Given the description of an element on the screen output the (x, y) to click on. 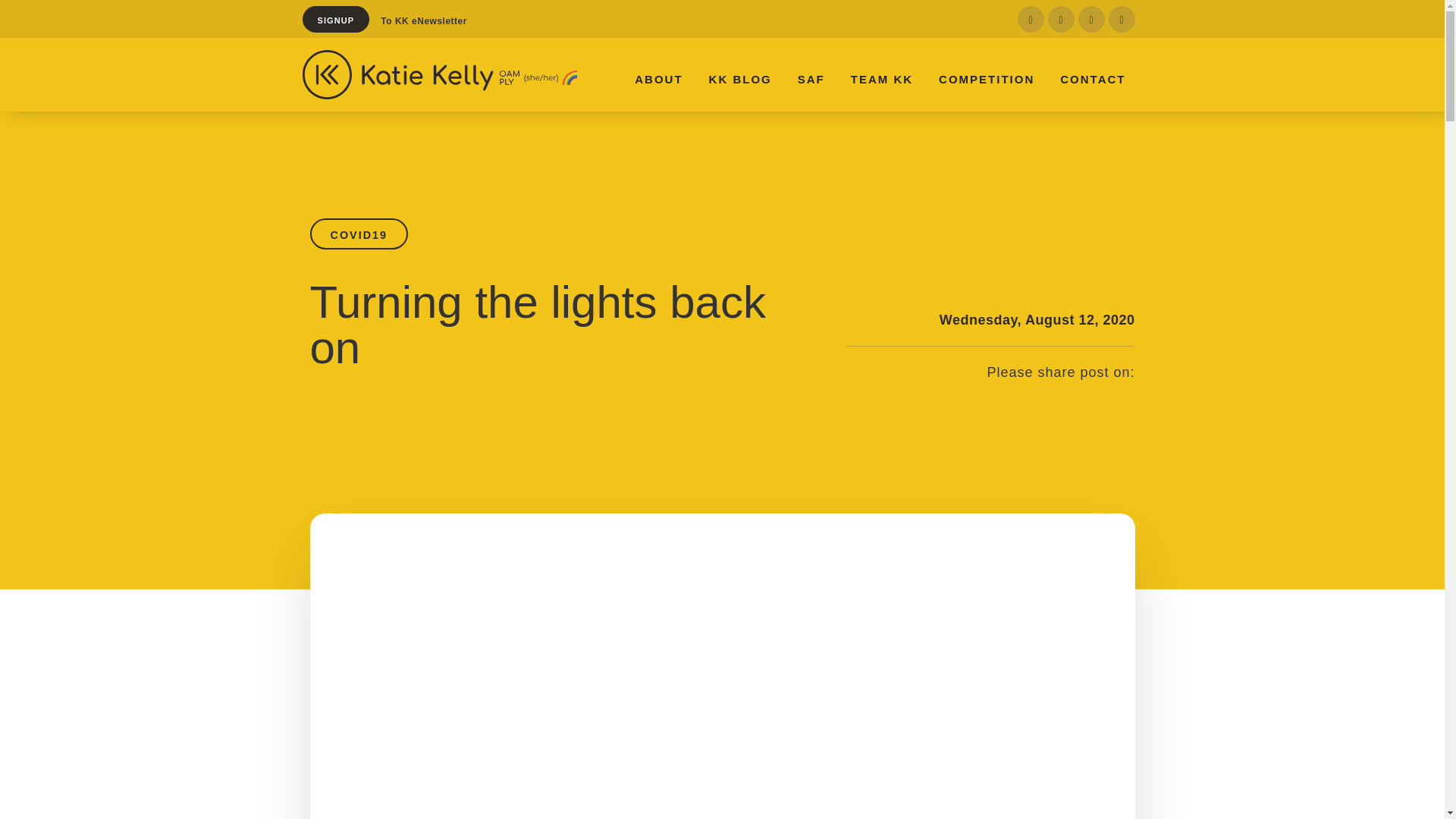
COMPETITION Element type: text (986, 78)
TEAM KK Element type: text (881, 78)
CONTACT Element type: text (1092, 78)
SAF Element type: text (811, 78)
KK BLOG Element type: text (740, 78)
SIGNUP Element type: text (335, 19)
ABOUT Element type: text (658, 78)
